Given the description of an element on the screen output the (x, y) to click on. 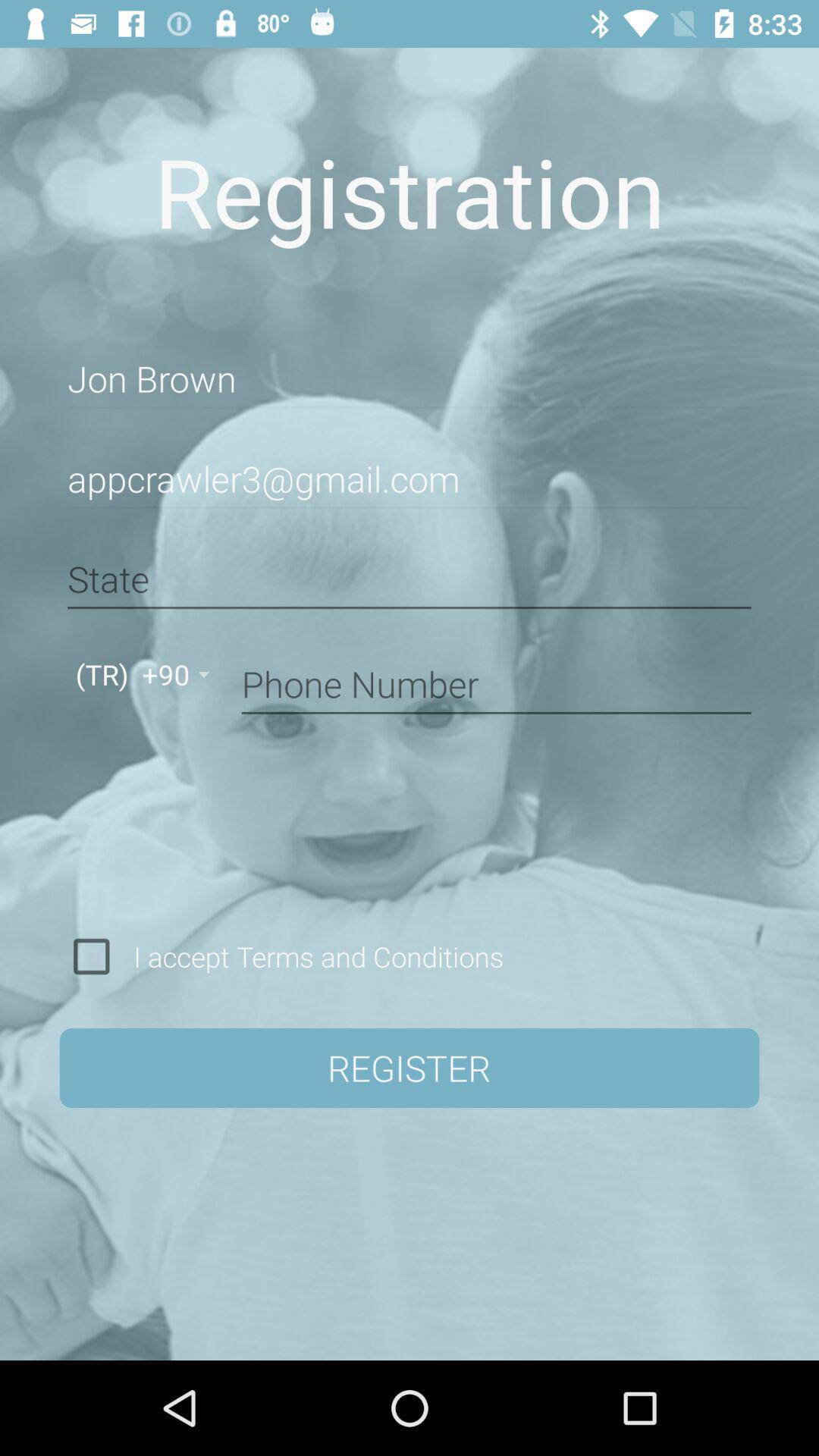
check to accept terms and conditions (91, 956)
